Given the description of an element on the screen output the (x, y) to click on. 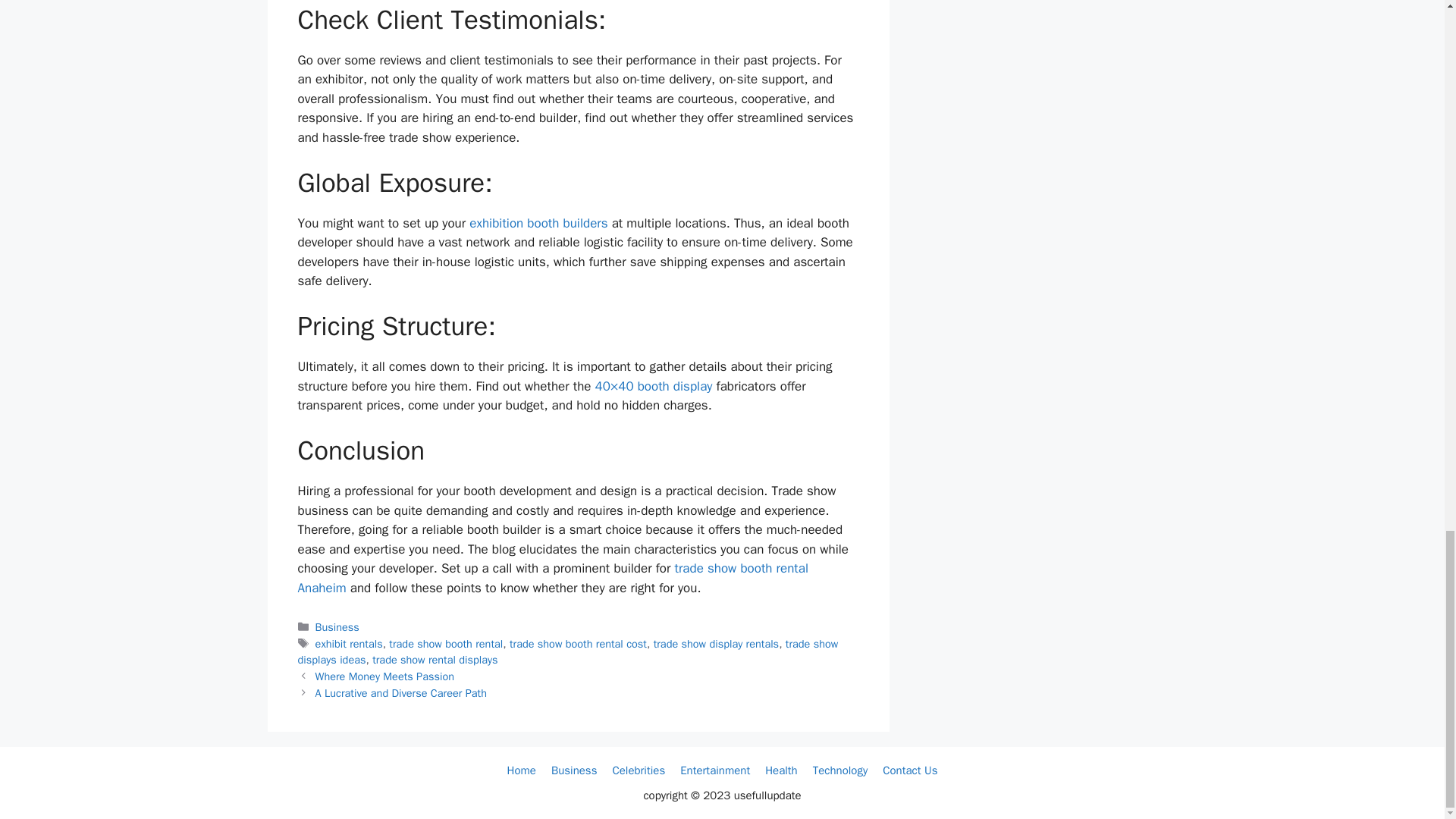
Where Money Meets Passion (384, 676)
exhibit rentals (348, 643)
trade show display rentals (715, 643)
trade show displays ideas (567, 652)
trade show booth rental (445, 643)
trade show booth rental cost (577, 643)
trade show booth rental Anaheim (552, 578)
Business (337, 626)
A Lucrative and Diverse Career Path (400, 693)
trade show rental displays (434, 659)
exhibition booth builders (537, 222)
